Given the description of an element on the screen output the (x, y) to click on. 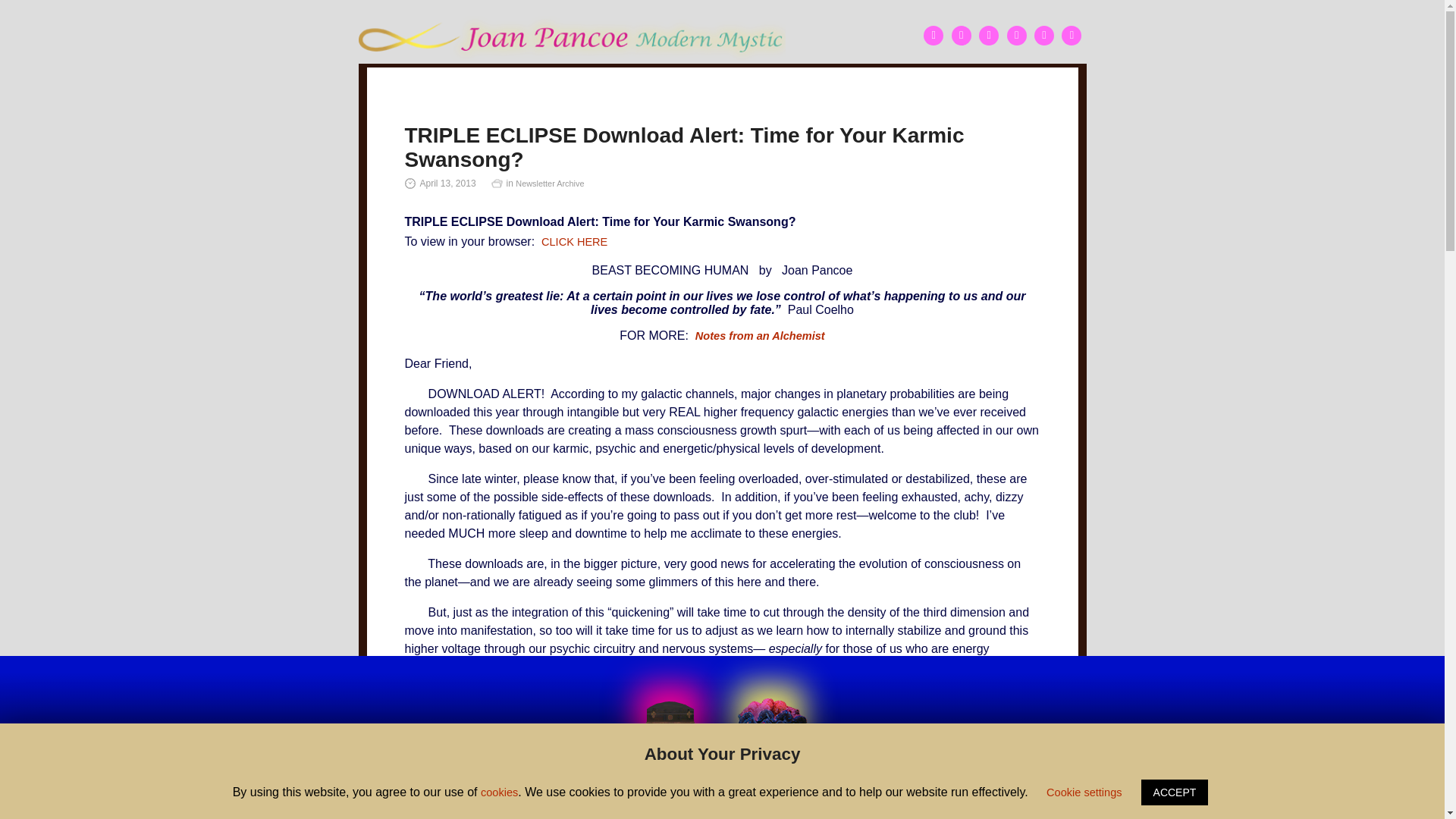
Newsletter Archive (549, 183)
Notes from an Alchemist (760, 336)
Master Hou (434, 800)
CLICK HERE (574, 241)
Dr. Steven Schram (663, 800)
